Given the description of an element on the screen output the (x, y) to click on. 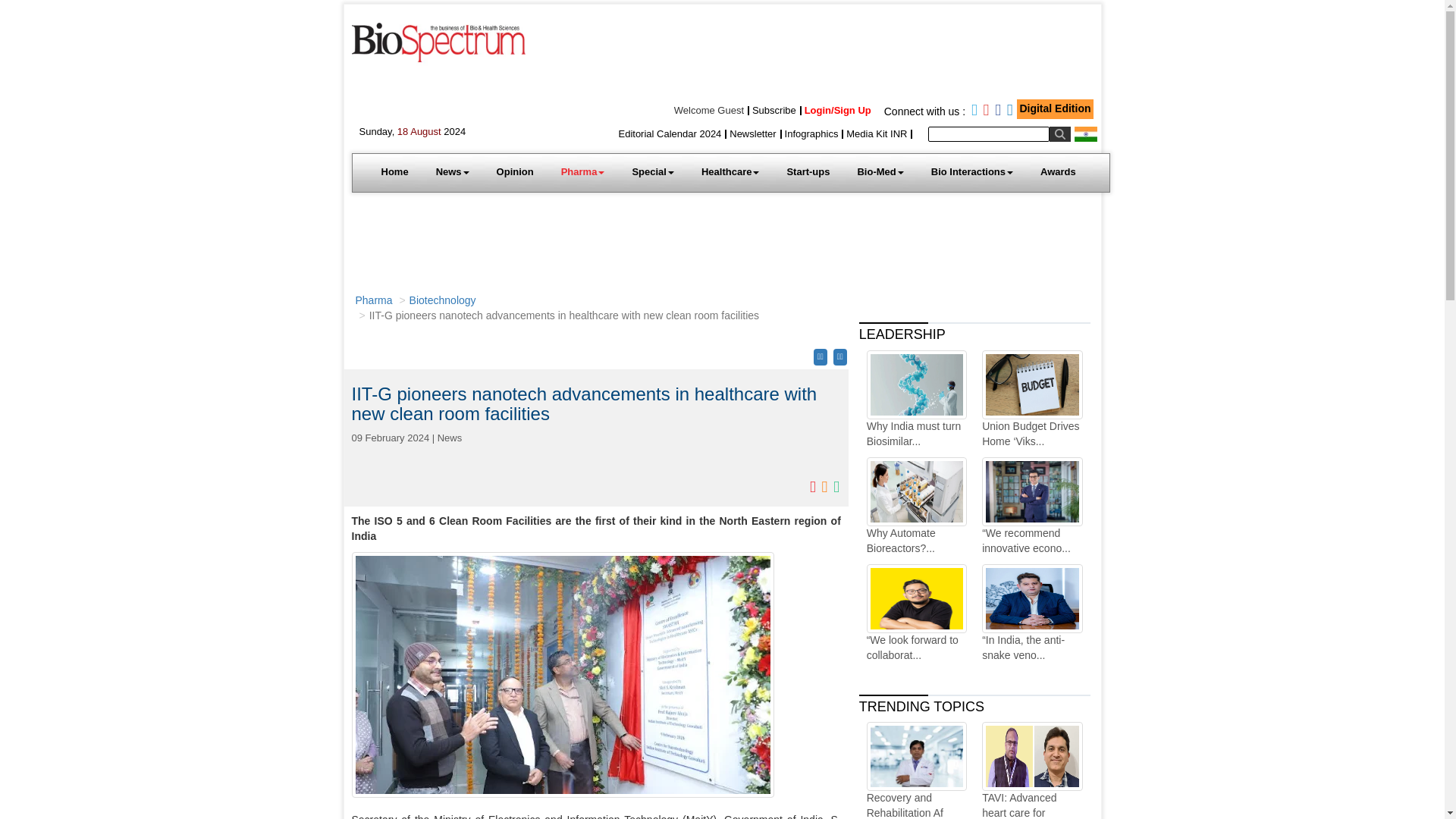
Home (394, 171)
Pharma (582, 171)
News (452, 171)
Newsletter (752, 133)
Media Kit INR (876, 133)
Opinion (515, 171)
Why Automate Bioreactors? (916, 506)
Healthcare (730, 171)
TAVI: Advanced heart care for complex health conditions   (1031, 770)
